Given the description of an element on the screen output the (x, y) to click on. 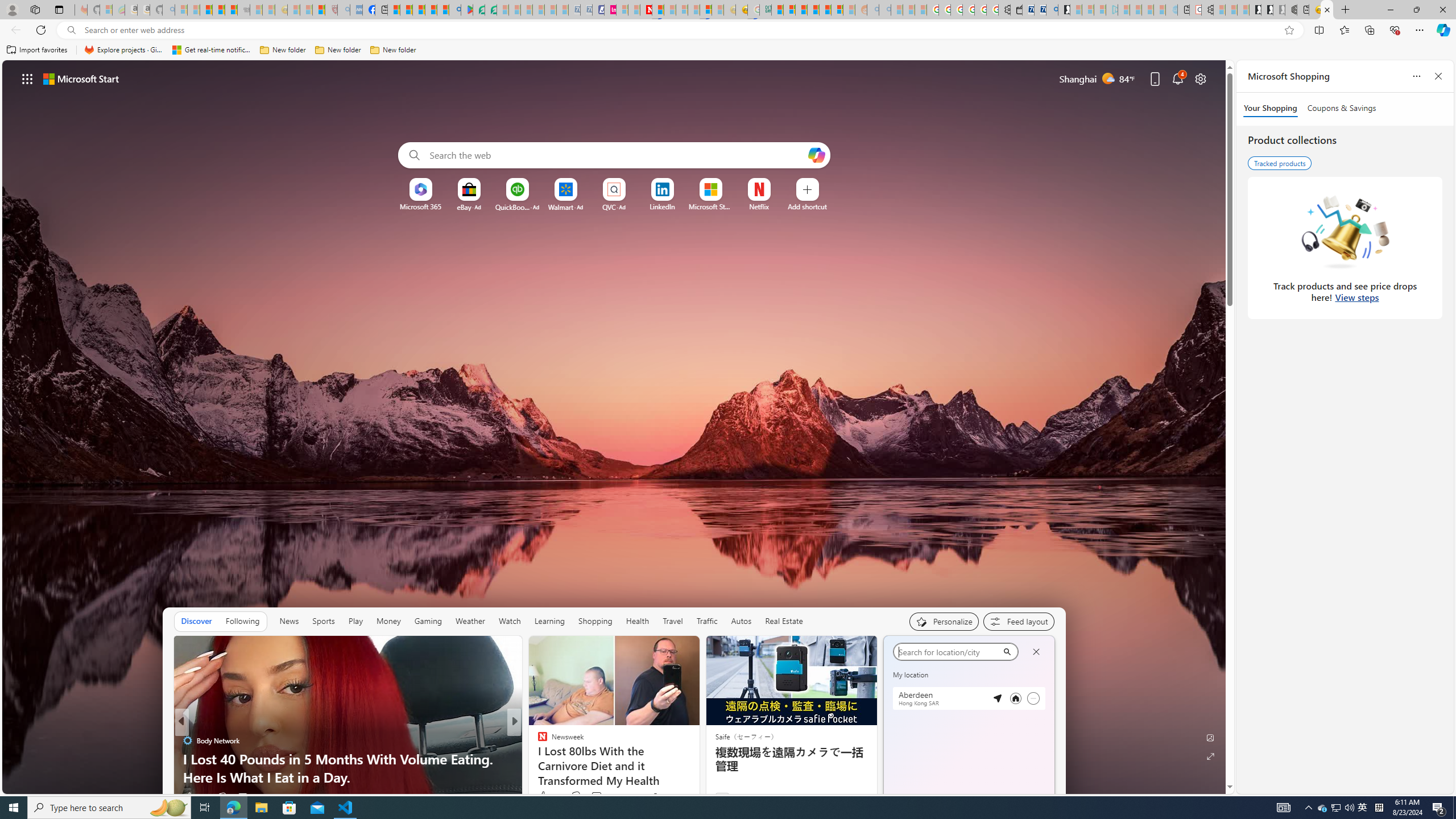
LinkedIn (662, 206)
Page settings (1200, 78)
View comments 11 Comment (597, 796)
Class: icon-img (1037, 649)
App launcher (27, 78)
Cannot remove (1032, 698)
